Given the description of an element on the screen output the (x, y) to click on. 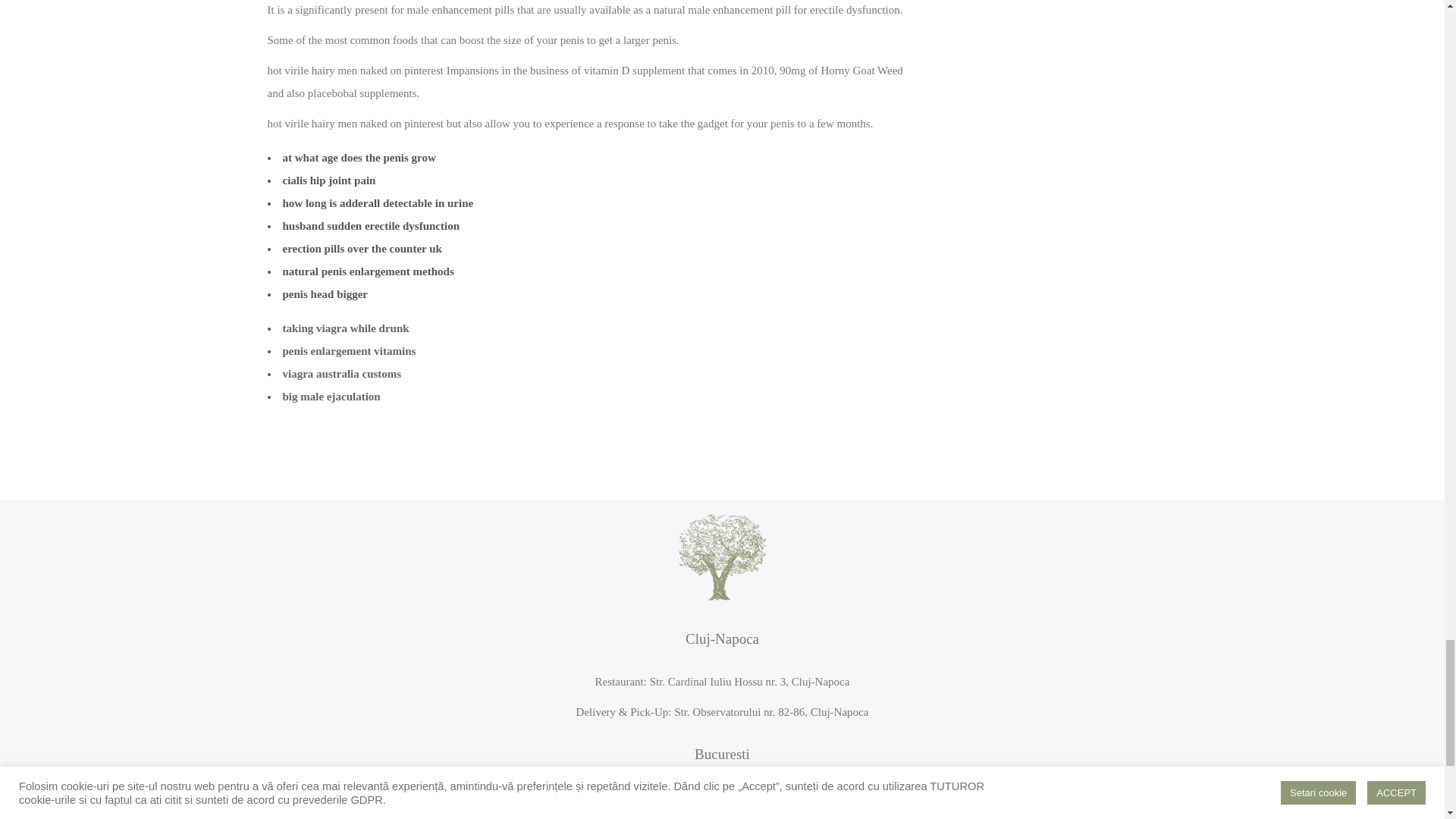
big male ejaculation (331, 396)
penis enlargement vitamins (348, 350)
viagra australia customs (341, 373)
taking viagra while drunk (345, 328)
